Given the description of an element on the screen output the (x, y) to click on. 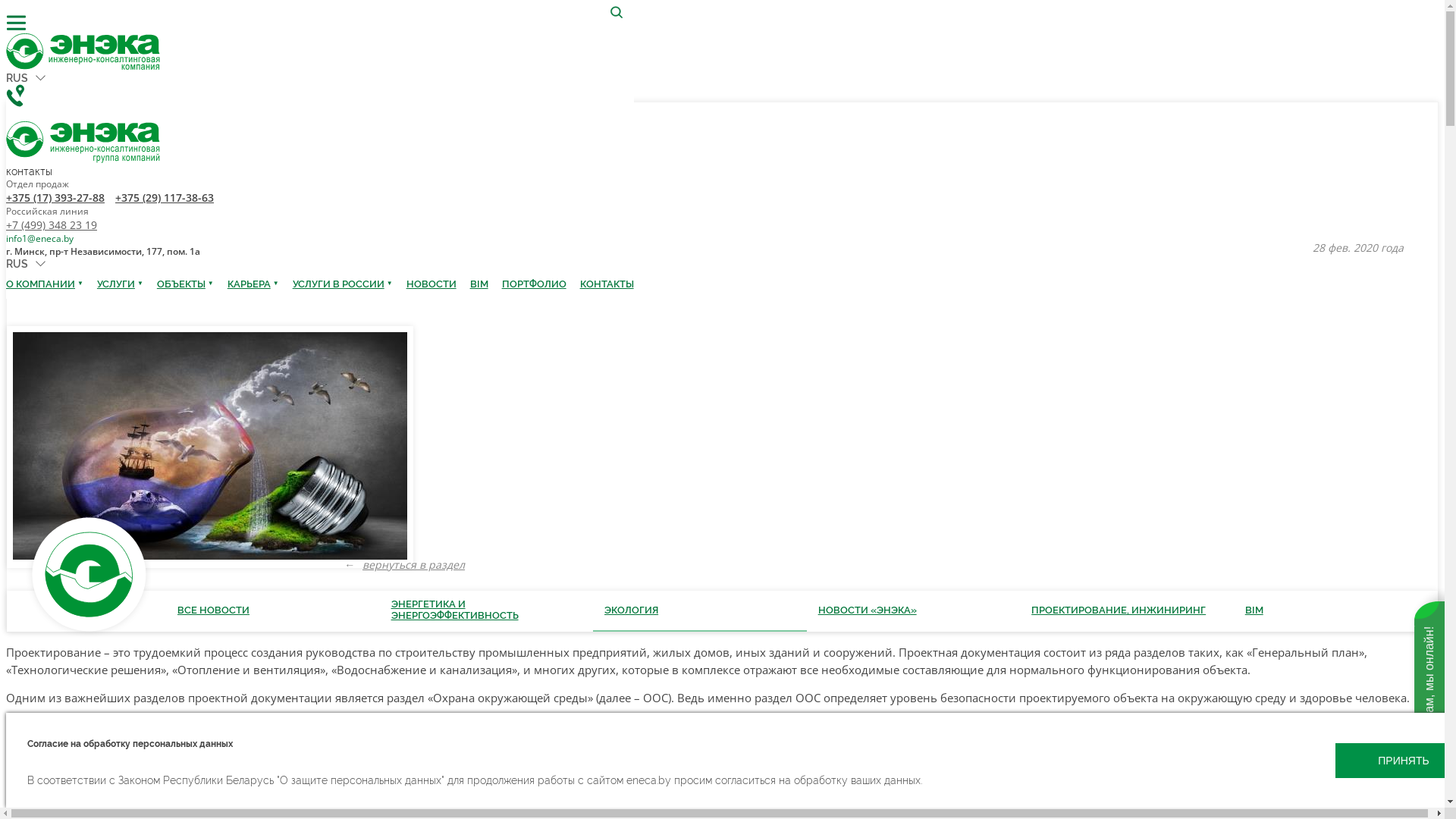
BIM Element type: text (1254, 610)
+7 (499) 348 23 19 Element type: text (51, 224)
+375 (17) 393-27-88 Element type: text (55, 197)
BIM Element type: text (479, 283)
info1@eneca.by Element type: text (39, 238)
+375 (29) 117-38-63 Element type: text (164, 197)
